Given the description of an element on the screen output the (x, y) to click on. 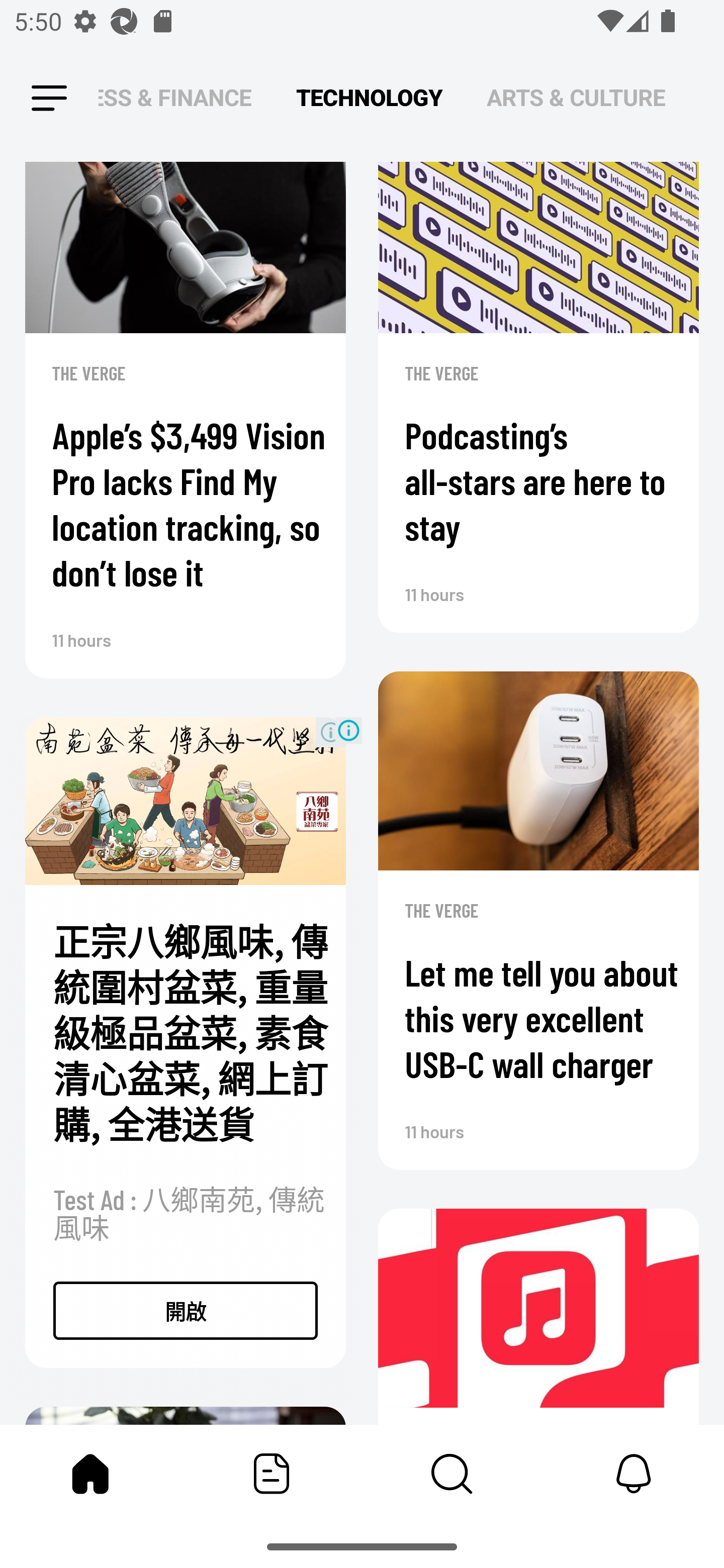
Leading Icon (49, 98)
BUSINESS & FINANCE (174, 97)
ARTS & CULTURE (575, 97)
Ad Choices Icon (348, 729)
Featured (271, 1473)
Content Store (452, 1473)
Notifications (633, 1473)
